Given the description of an element on the screen output the (x, y) to click on. 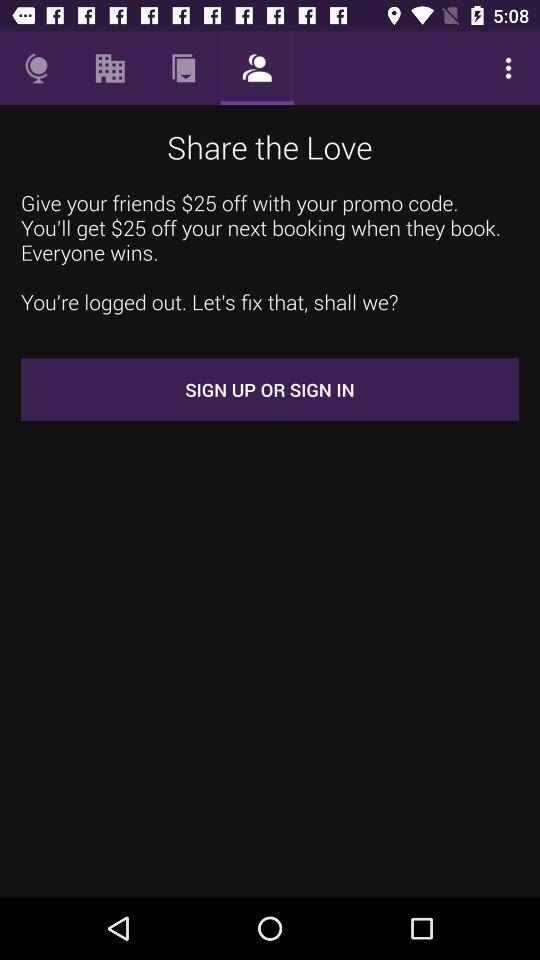
open the icon above give your friends (109, 68)
